Given the description of an element on the screen output the (x, y) to click on. 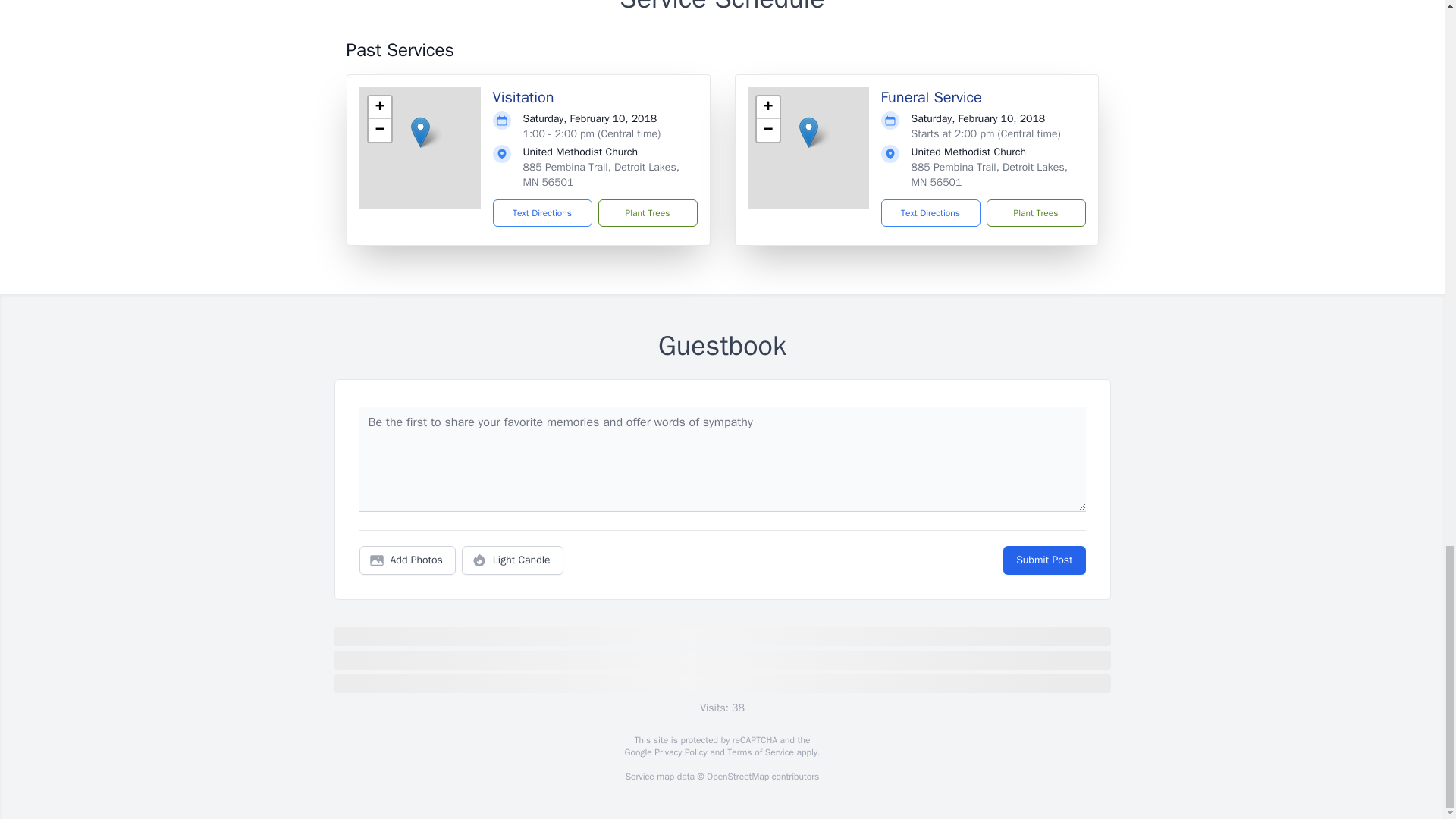
Terms of Service (759, 752)
Zoom out (767, 129)
Privacy Policy (679, 752)
Add Photos (407, 560)
Zoom in (767, 107)
Zoom in (379, 107)
885 Pembina Trail, Detroit Lakes, MN 56501 (989, 174)
Submit Post (1043, 560)
Plant Trees (646, 212)
Plant Trees (1034, 212)
OpenStreetMap (737, 776)
Text Directions (929, 212)
Zoom out (379, 129)
Light Candle (512, 560)
885 Pembina Trail, Detroit Lakes, MN 56501 (600, 174)
